Given the description of an element on the screen output the (x, y) to click on. 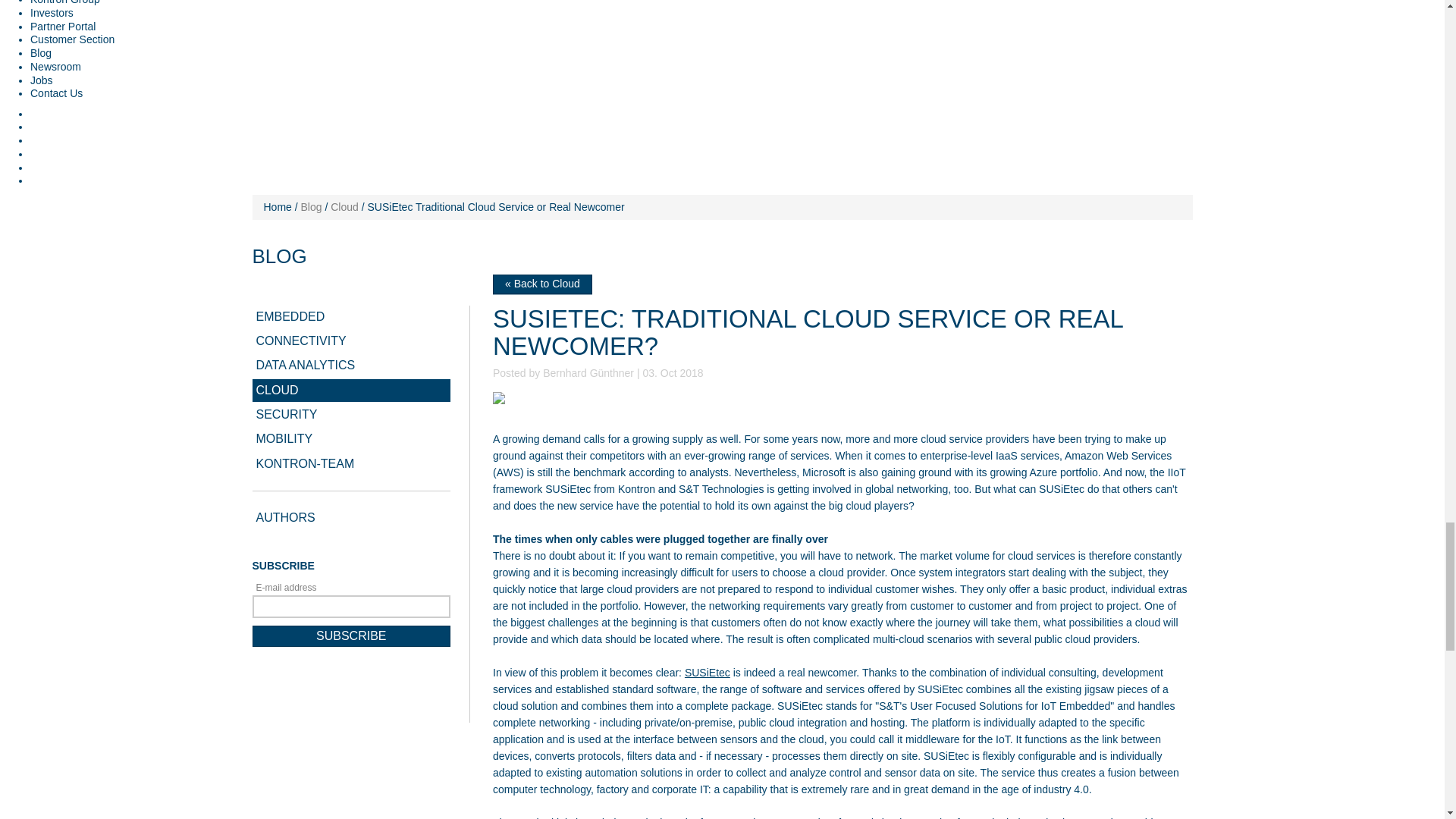
Blog (311, 205)
Cloud (344, 205)
